Given the description of an element on the screen output the (x, y) to click on. 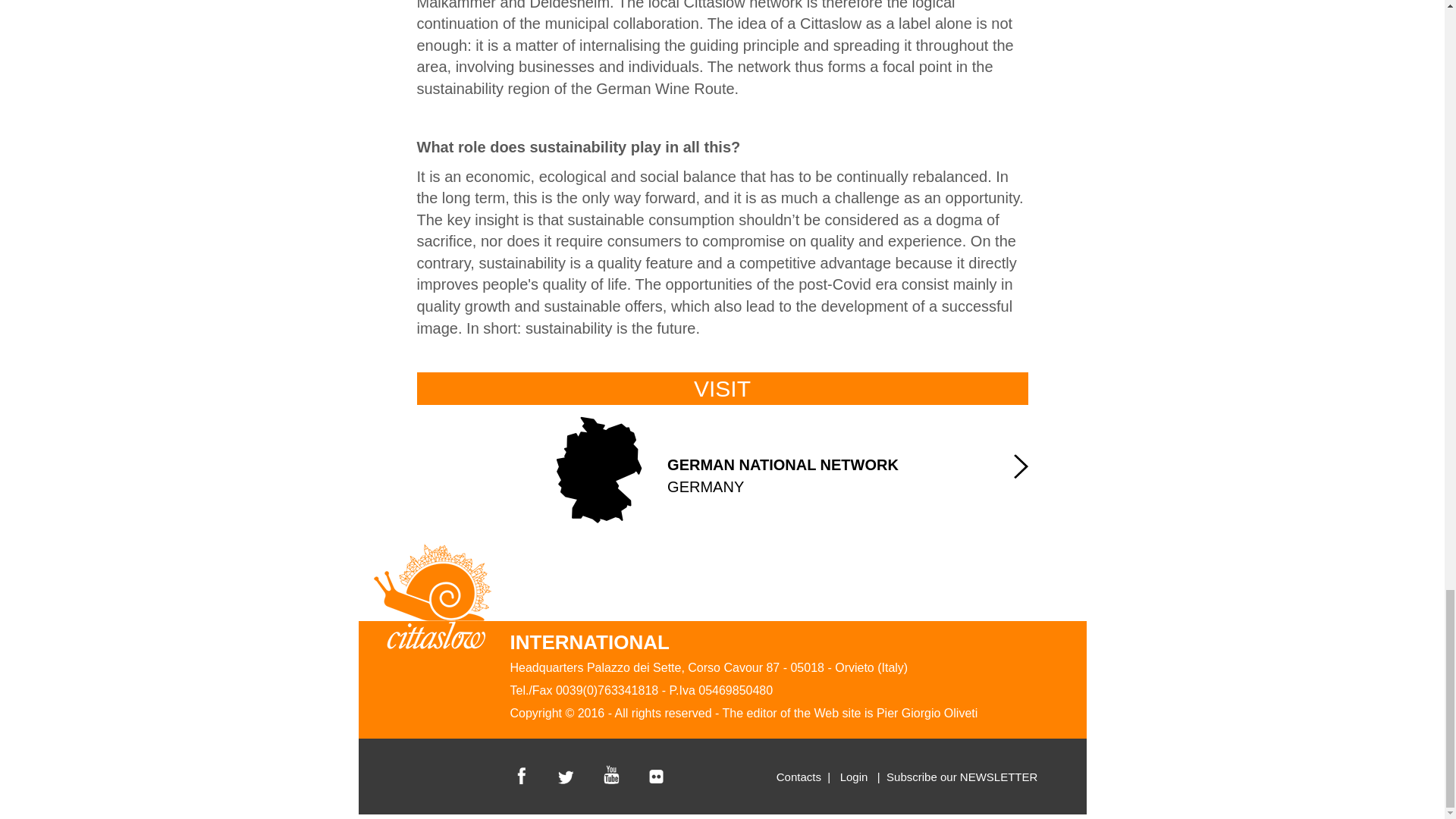
facebook (522, 775)
twitter (567, 775)
Subscribe our NEWSLETTER (978, 776)
Login (721, 466)
Contacts (853, 776)
flickr (798, 776)
youtube (658, 775)
